Given the description of an element on the screen output the (x, y) to click on. 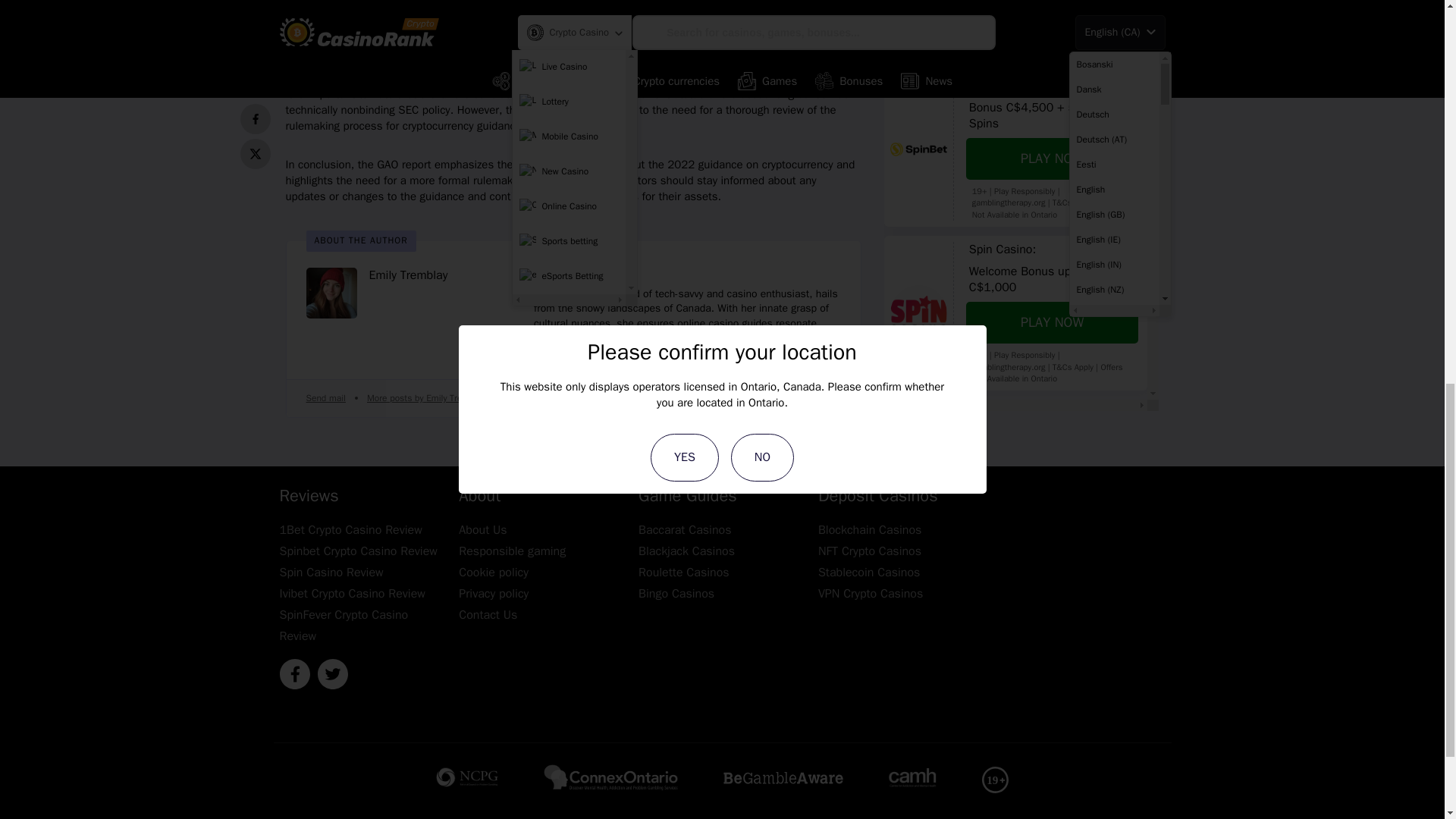
Melayu (1113, 4)
